Given the description of an element on the screen output the (x, y) to click on. 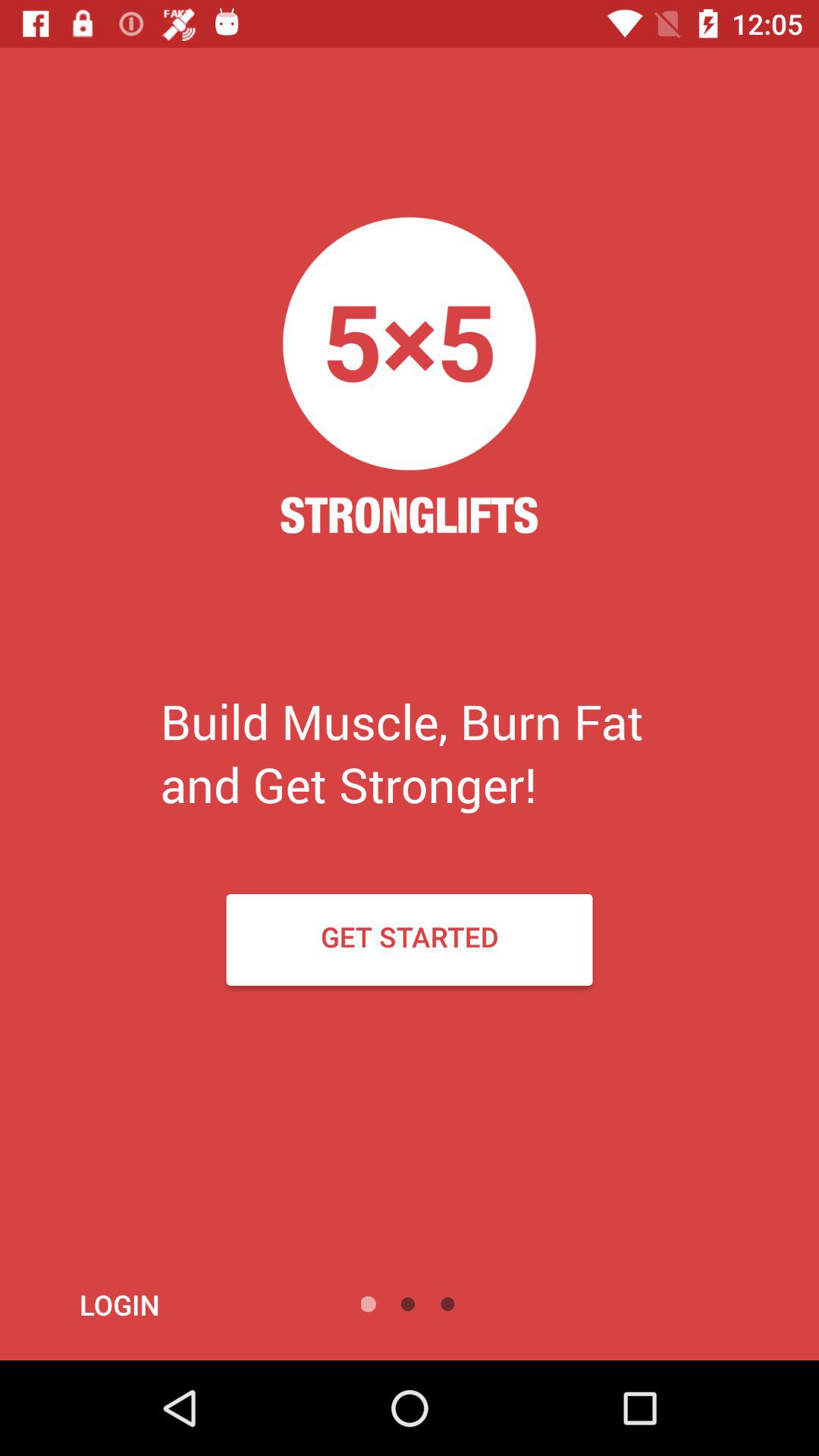
launch icon below the get started (160, 1304)
